Given the description of an element on the screen output the (x, y) to click on. 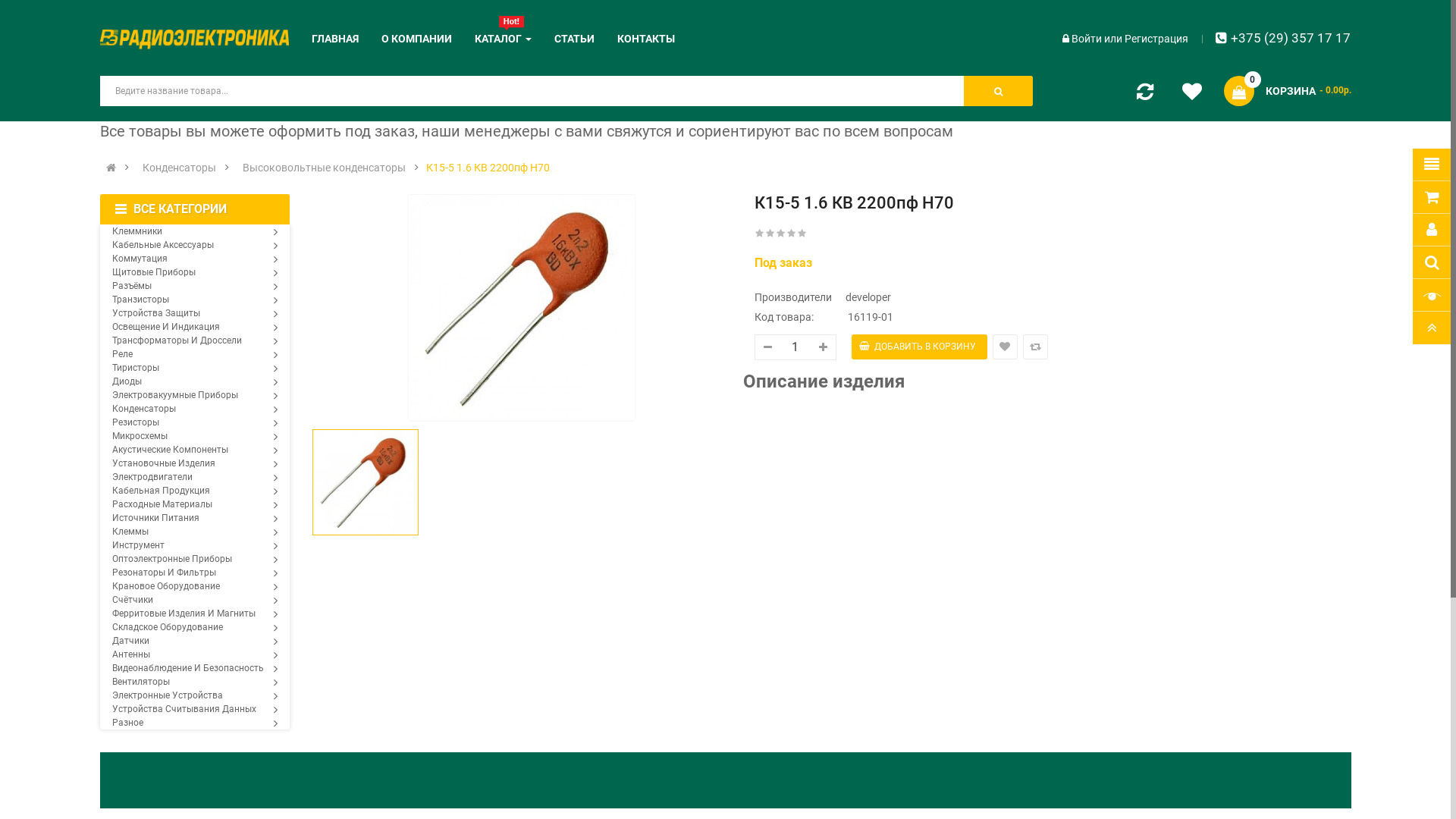
+375 (29) 357 17 17 Element type: text (1282, 37)
developer Element type: text (890, 297)
